Given the description of an element on the screen output the (x, y) to click on. 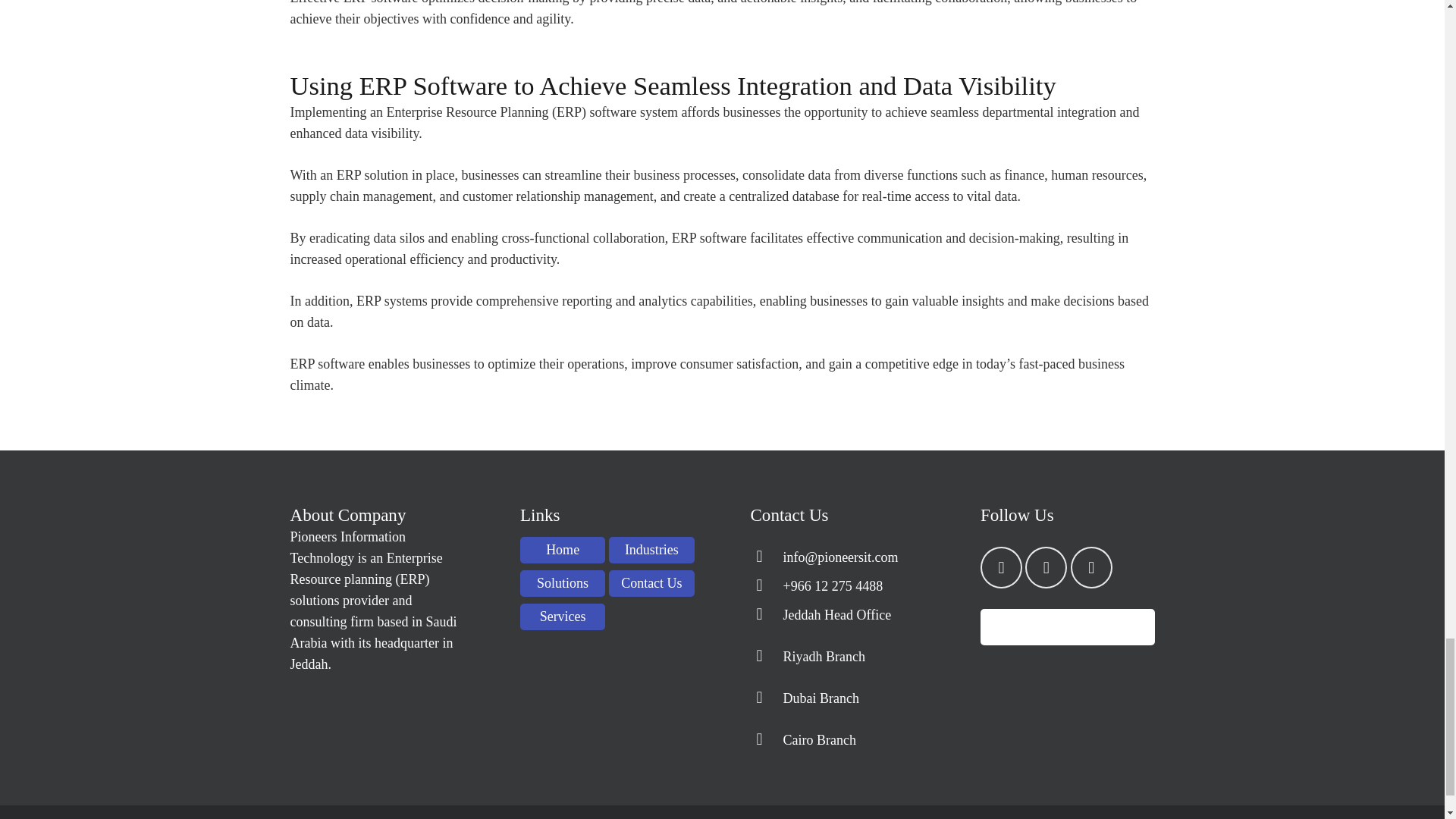
LinkedIn (1000, 567)
YouTube (1091, 567)
Facebook (1046, 567)
Golden Partner (1067, 627)
